Given the description of an element on the screen output the (x, y) to click on. 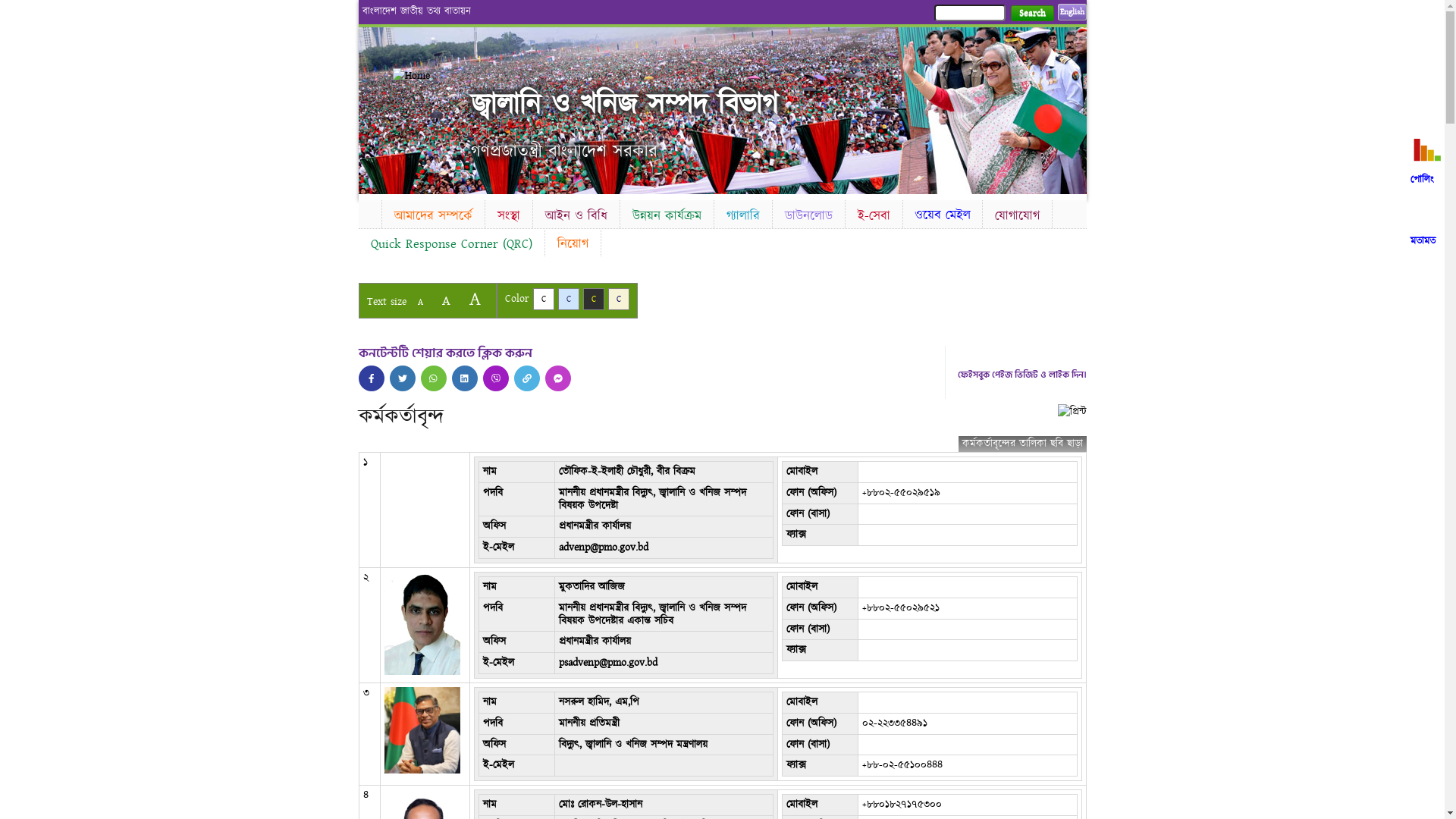
C Element type: text (542, 299)
Home Element type: hover (431, 76)
Search Element type: text (1031, 13)
A Element type: text (474, 298)
English Element type: text (1071, 11)
Home Element type: hover (368, 211)
C Element type: text (618, 299)
C Element type: text (592, 299)
A Element type: text (445, 300)
Quick Response Corner (QRC) Element type: text (450, 244)
A Element type: text (419, 301)
C Element type: text (568, 299)
